Given the description of an element on the screen output the (x, y) to click on. 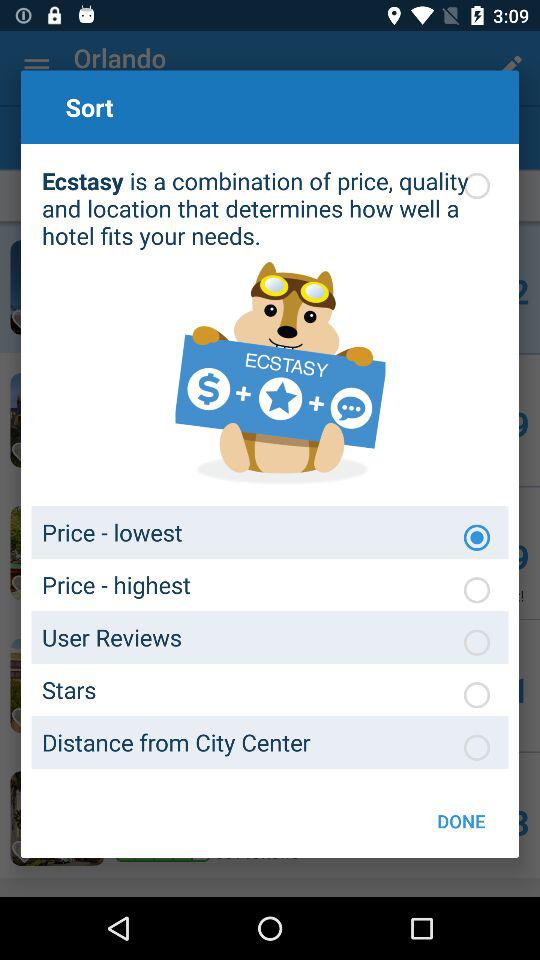
select option (477, 747)
